Given the description of an element on the screen output the (x, y) to click on. 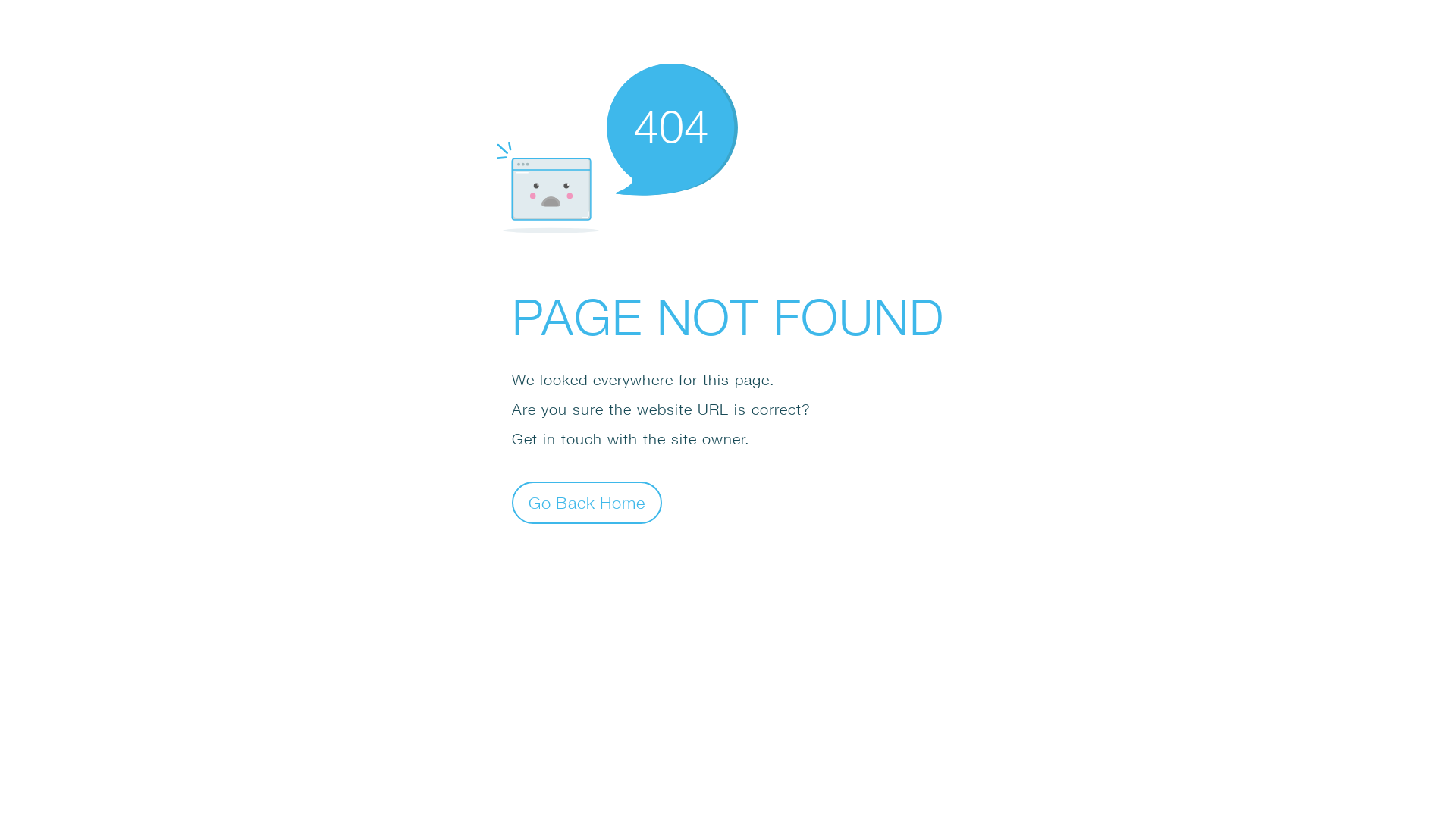
Go Back Home Element type: text (586, 502)
